Given the description of an element on the screen output the (x, y) to click on. 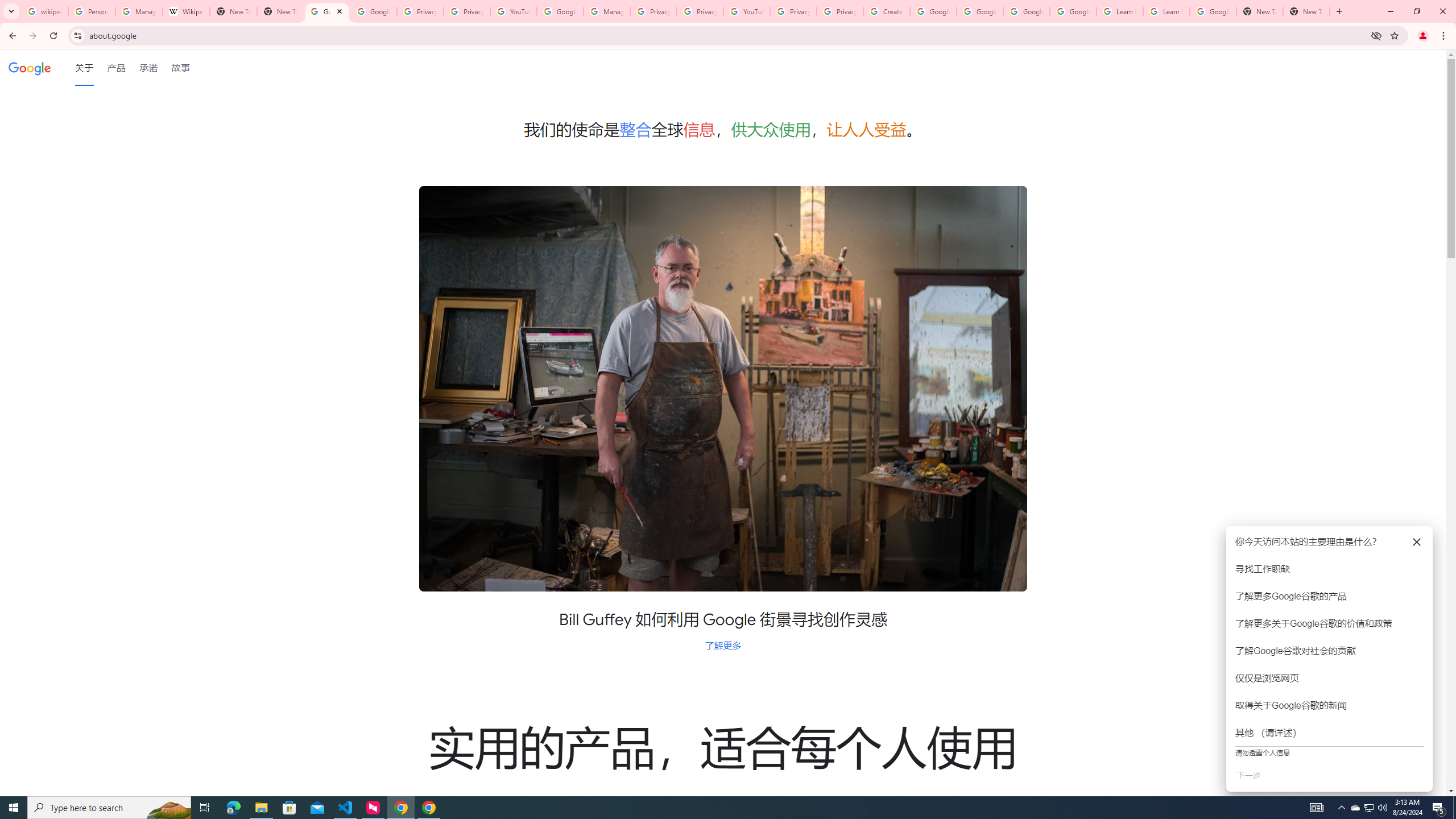
Google Account Help (980, 11)
New Tab (1259, 11)
Wikipedia:Edit requests - Wikipedia (186, 11)
